Given the description of an element on the screen output the (x, y) to click on. 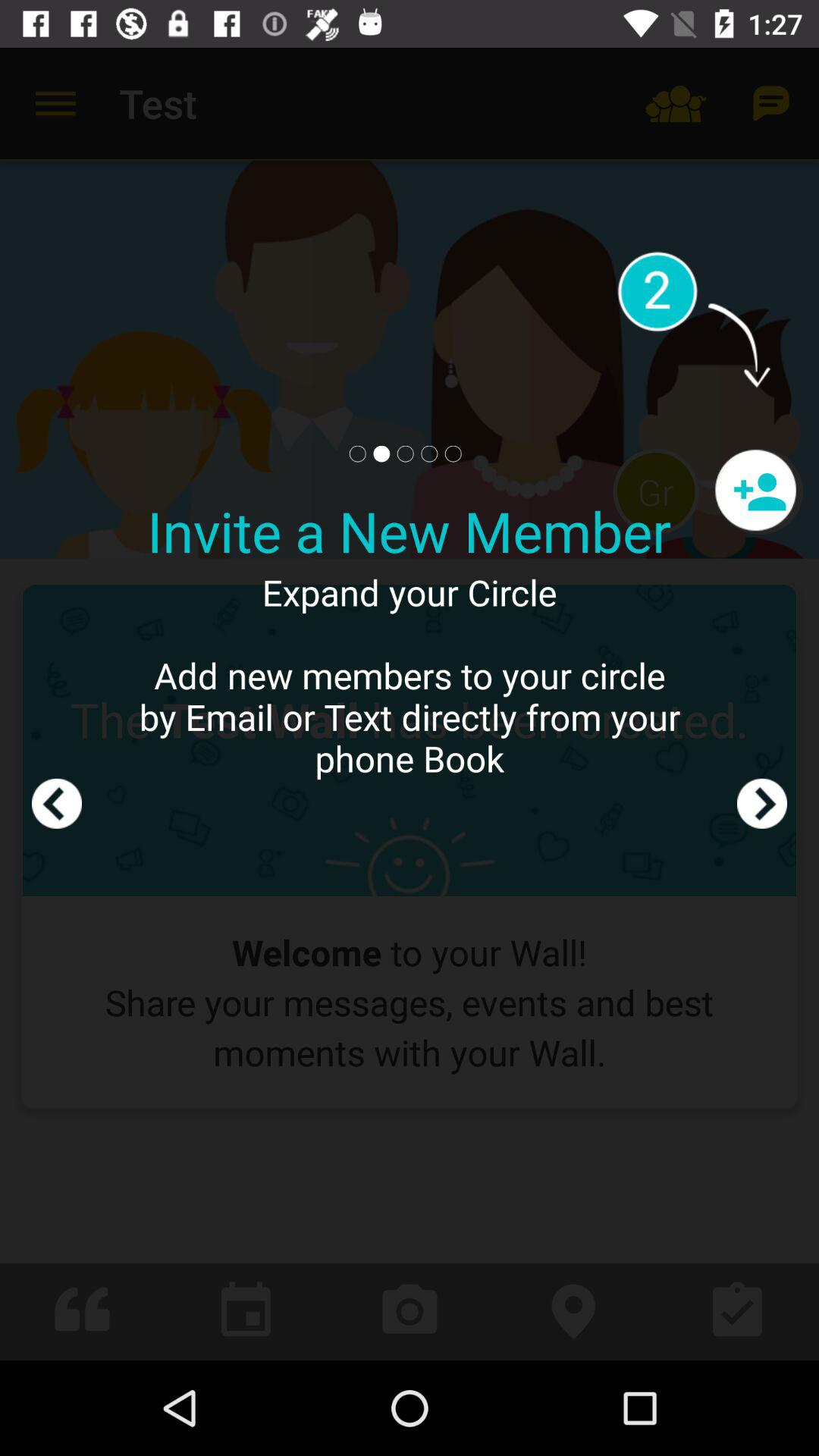
press icon to the right of expand your circle (762, 703)
